Given the description of an element on the screen output the (x, y) to click on. 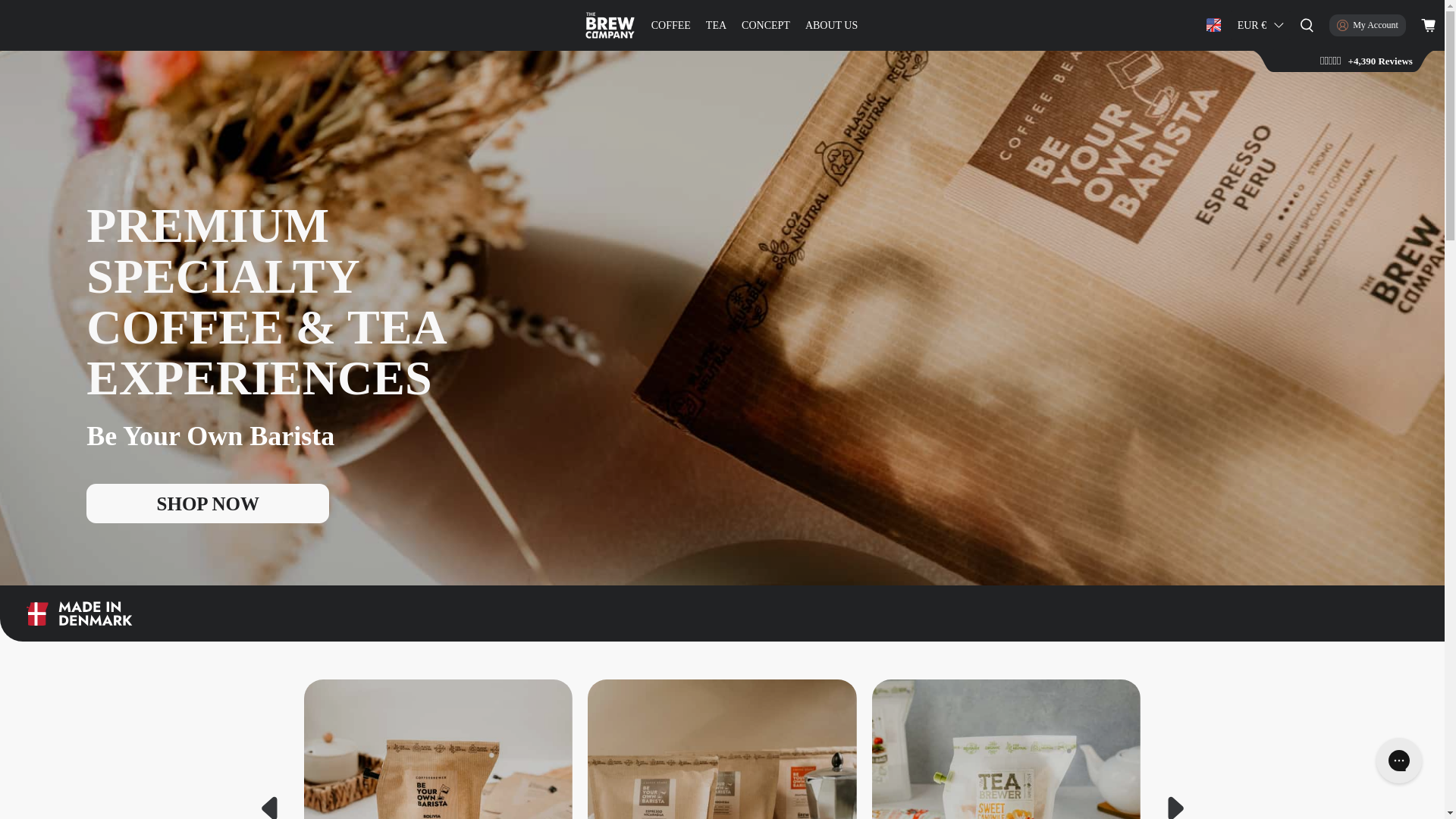
CAD (1260, 119)
USD (1260, 96)
COFFEE (670, 25)
The Brew Company (609, 25)
Collection page (207, 503)
EUR (1260, 74)
GBP (1260, 51)
CONCEPT (765, 25)
Gorgias live chat messenger (1398, 760)
ABOUT US (831, 25)
My Account (1366, 25)
